Given the description of an element on the screen output the (x, y) to click on. 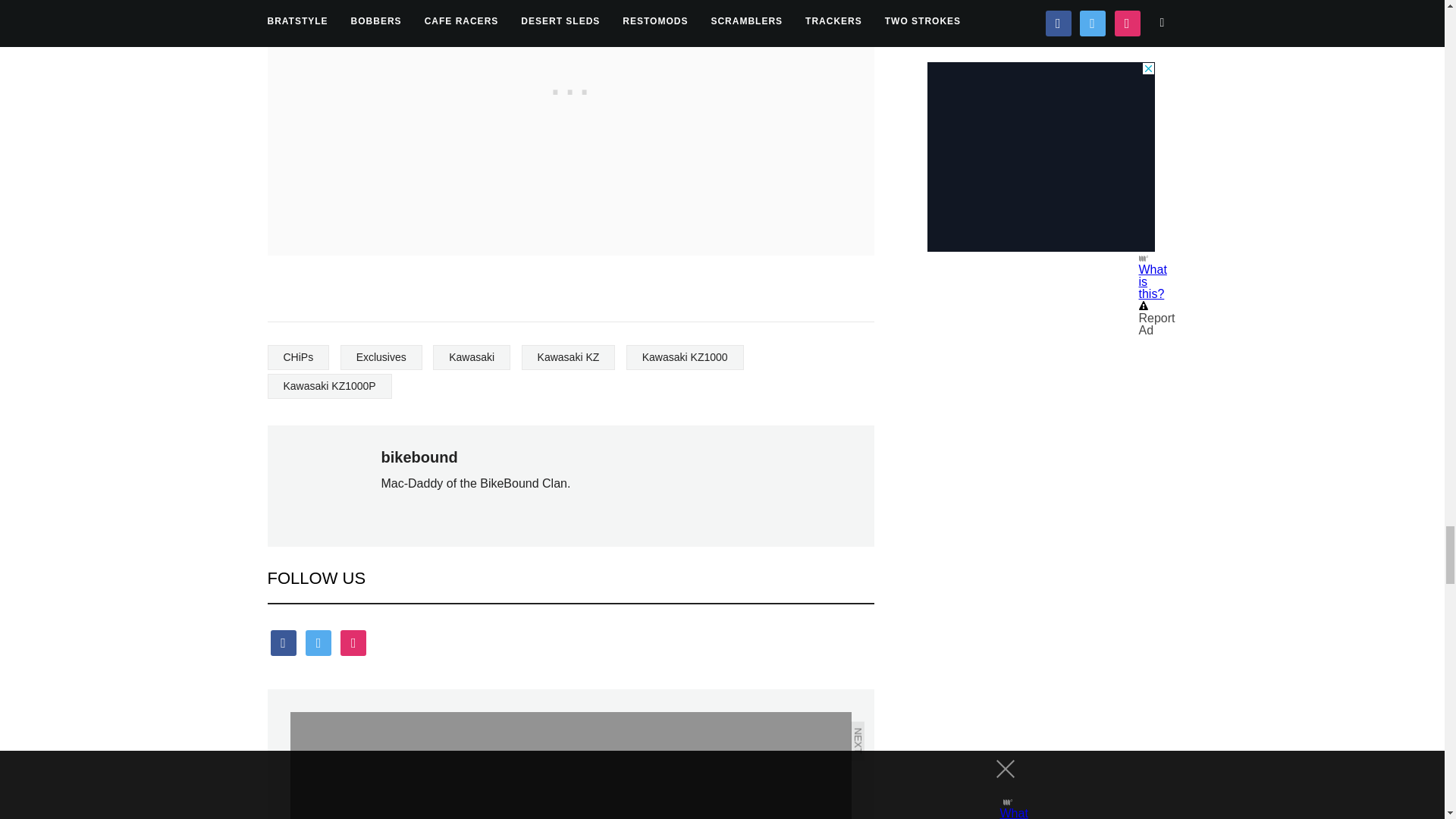
Feature Film: HANDCRAFTED (710, 765)
Facebook (282, 642)
Instagram (353, 642)
Twitter (318, 642)
Posts by bikebound (418, 457)
